Given the description of an element on the screen output the (x, y) to click on. 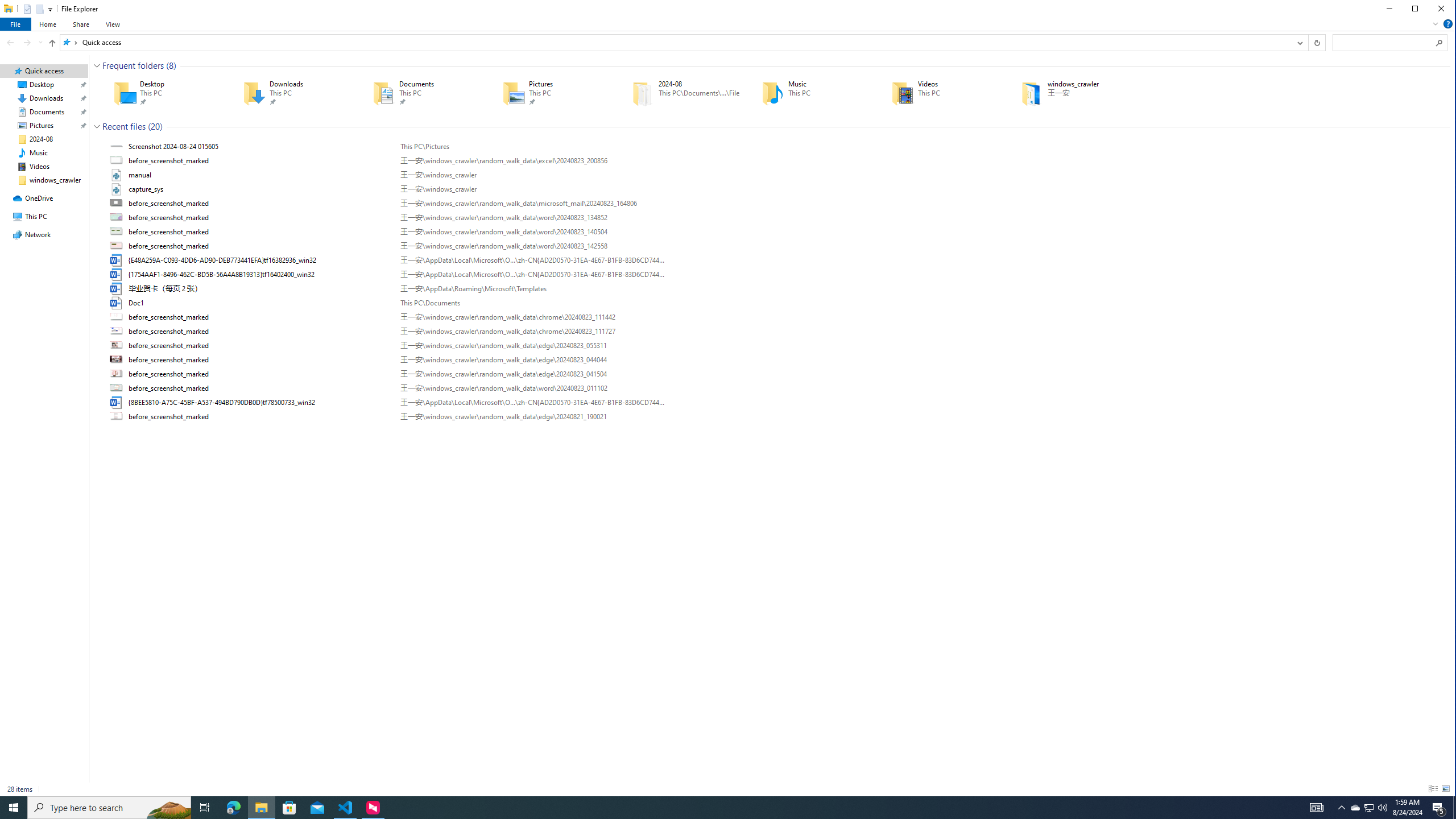
Home (47, 24)
before_screenshot_marked (776, 416)
Count (155, 126)
All locations (69, 42)
Music (809, 93)
Minimize the Ribbon (1435, 24)
